Given the description of an element on the screen output the (x, y) to click on. 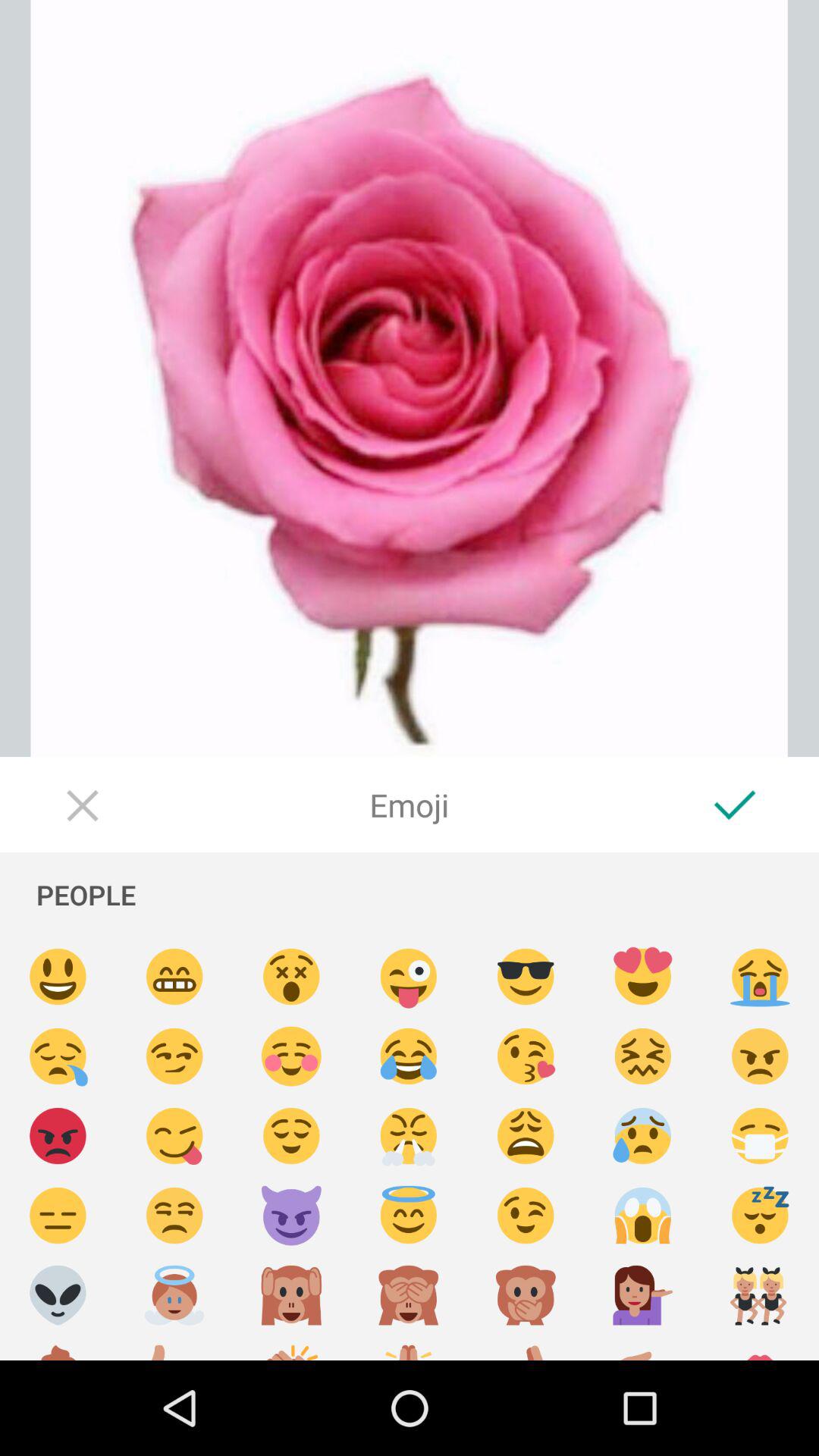
add an emoji (408, 976)
